Given the description of an element on the screen output the (x, y) to click on. 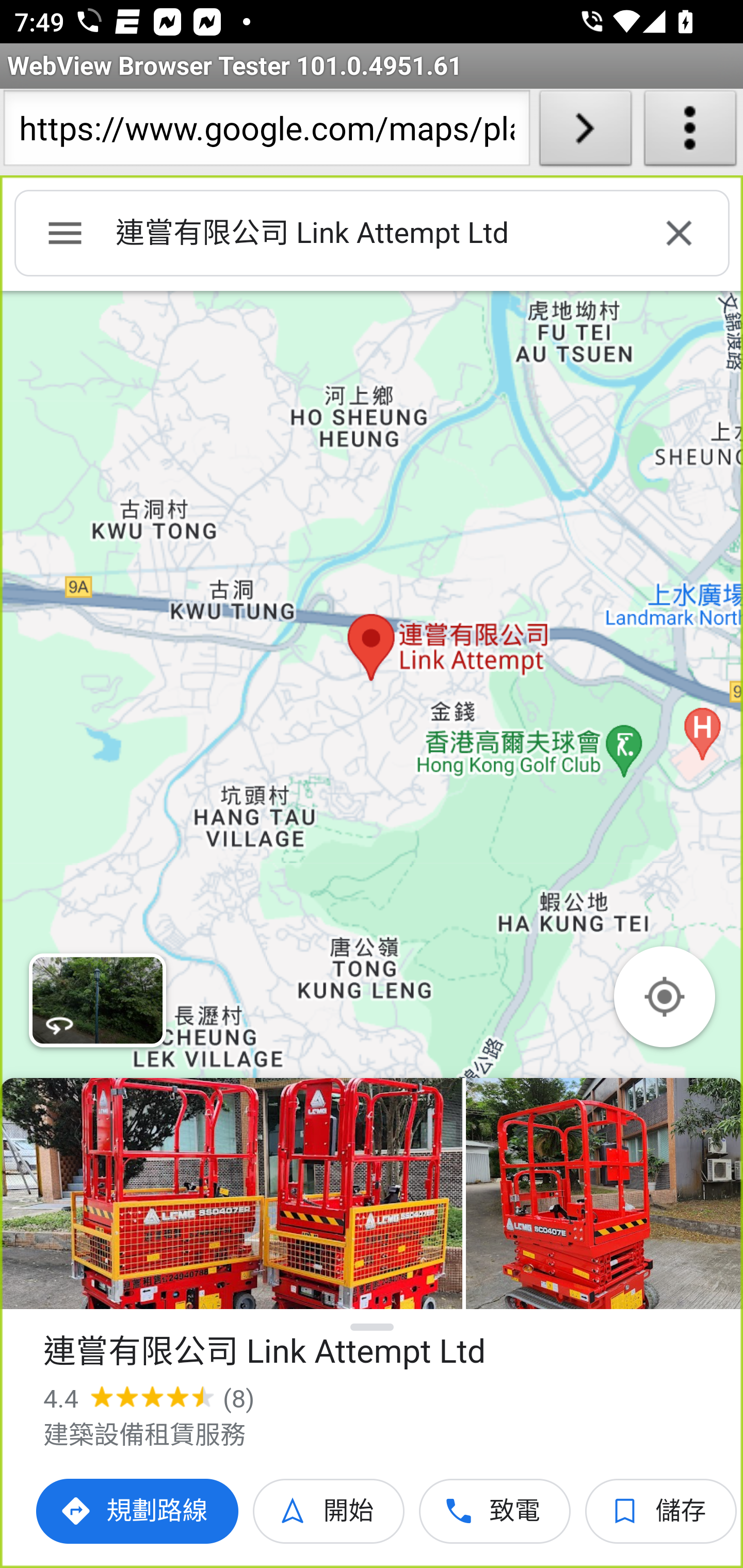
Load URL (585, 132)
About WebView (690, 132)
第 1 張相片 (共 9 張) (231, 1193)
第 2 張相片 (共 9 張) (604, 1193)
顯示詳細資料 (372, 1327)
前往連嘗有限公司 Link Attempt Ltd的路線 (137, 1511)
開始 (329, 1511)
致電「連嘗有限公司 Link Attempt Ltd」  致電 (495, 1511)
將「連嘗有限公司 Link Attempt Ltd」儲存至清單中 (661, 1511)
